Given the description of an element on the screen output the (x, y) to click on. 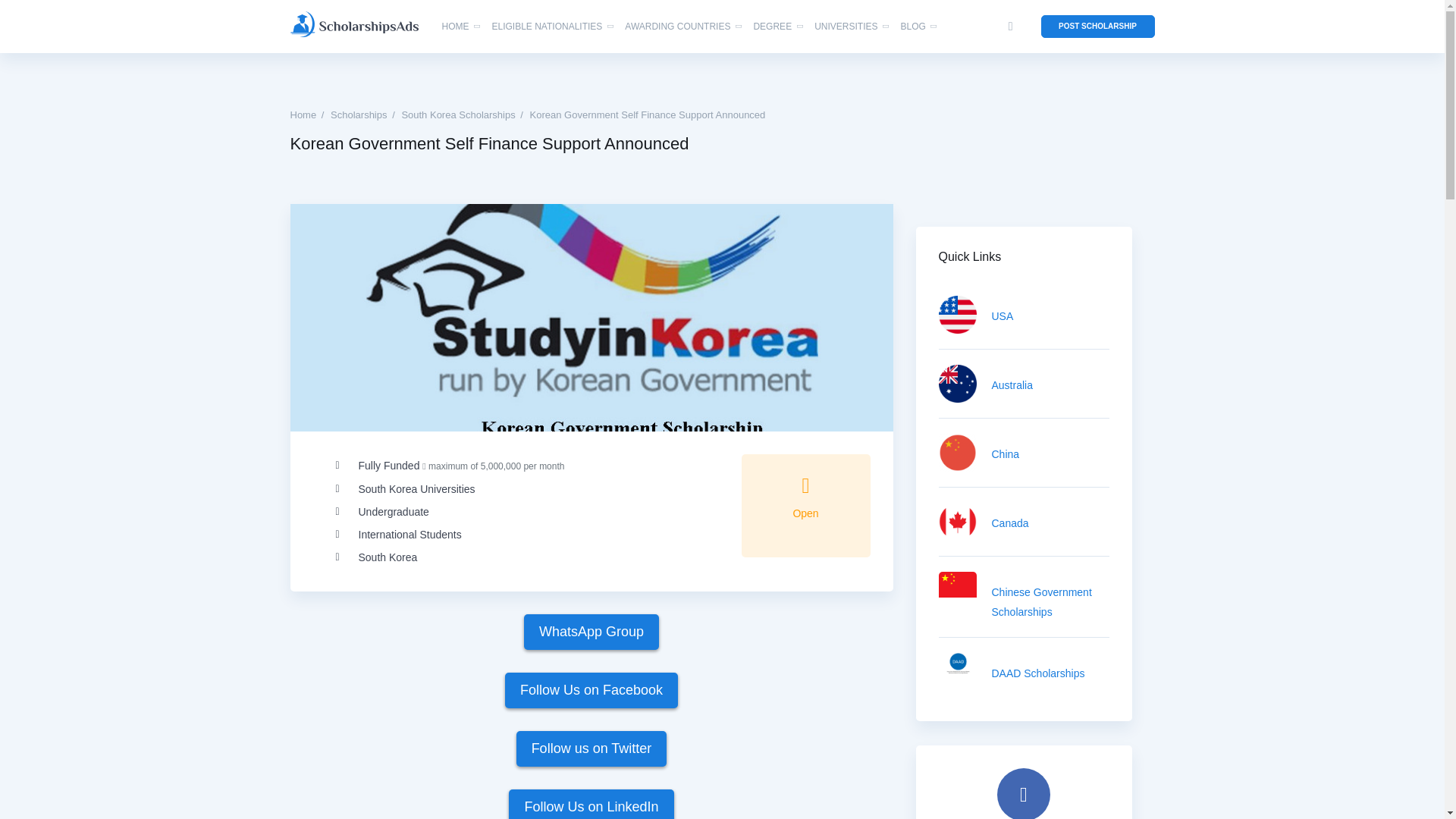
ELIGIBLE NATIONALITIES (547, 26)
UNIVERSITIES (845, 26)
AWARDING COUNTRIES (677, 26)
